Given the description of an element on the screen output the (x, y) to click on. 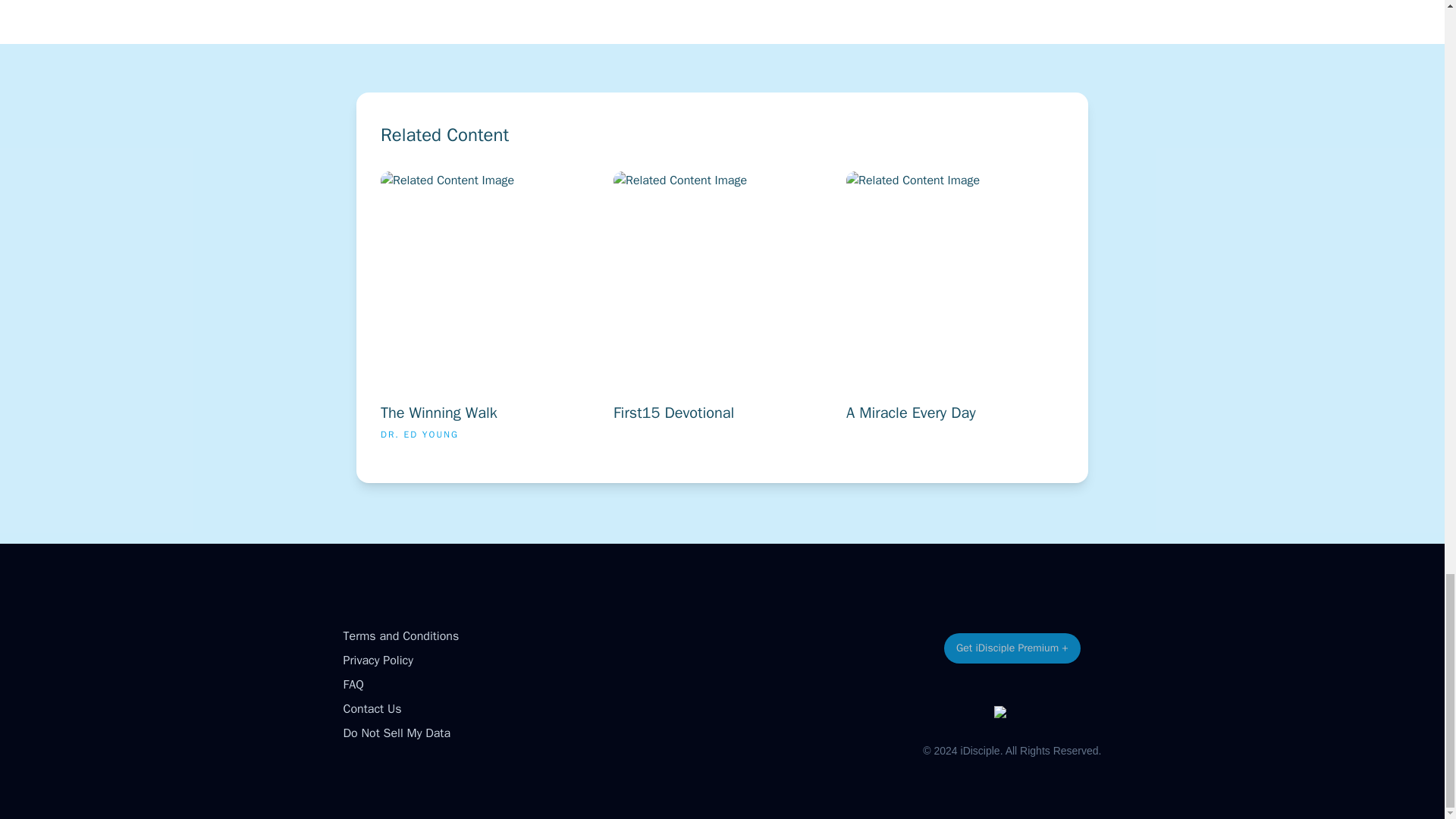
Contact Us (371, 708)
FAQ (352, 684)
Do Not Sell My Data (395, 733)
First15 Devotional (802, 311)
Terms and Conditions (400, 635)
A Miracle Every Day (570, 311)
Privacy Policy (1035, 311)
